Given the description of an element on the screen output the (x, y) to click on. 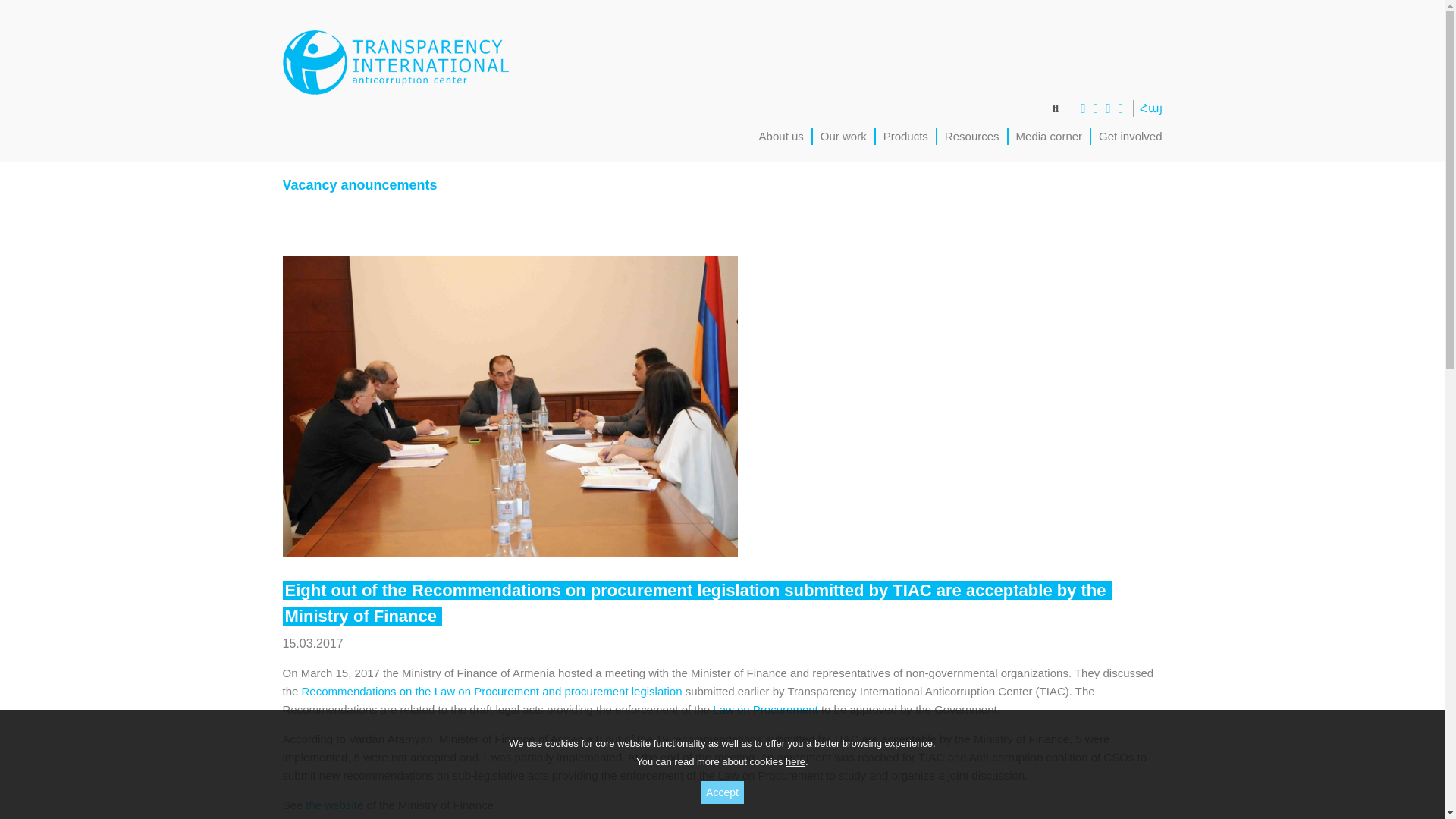
Our work (843, 135)
Products (905, 135)
Resources (971, 135)
Get involved (1130, 135)
Media corner (1049, 135)
About us (780, 135)
Transparency International Anti-Corruption Center (395, 62)
